Given the description of an element on the screen output the (x, y) to click on. 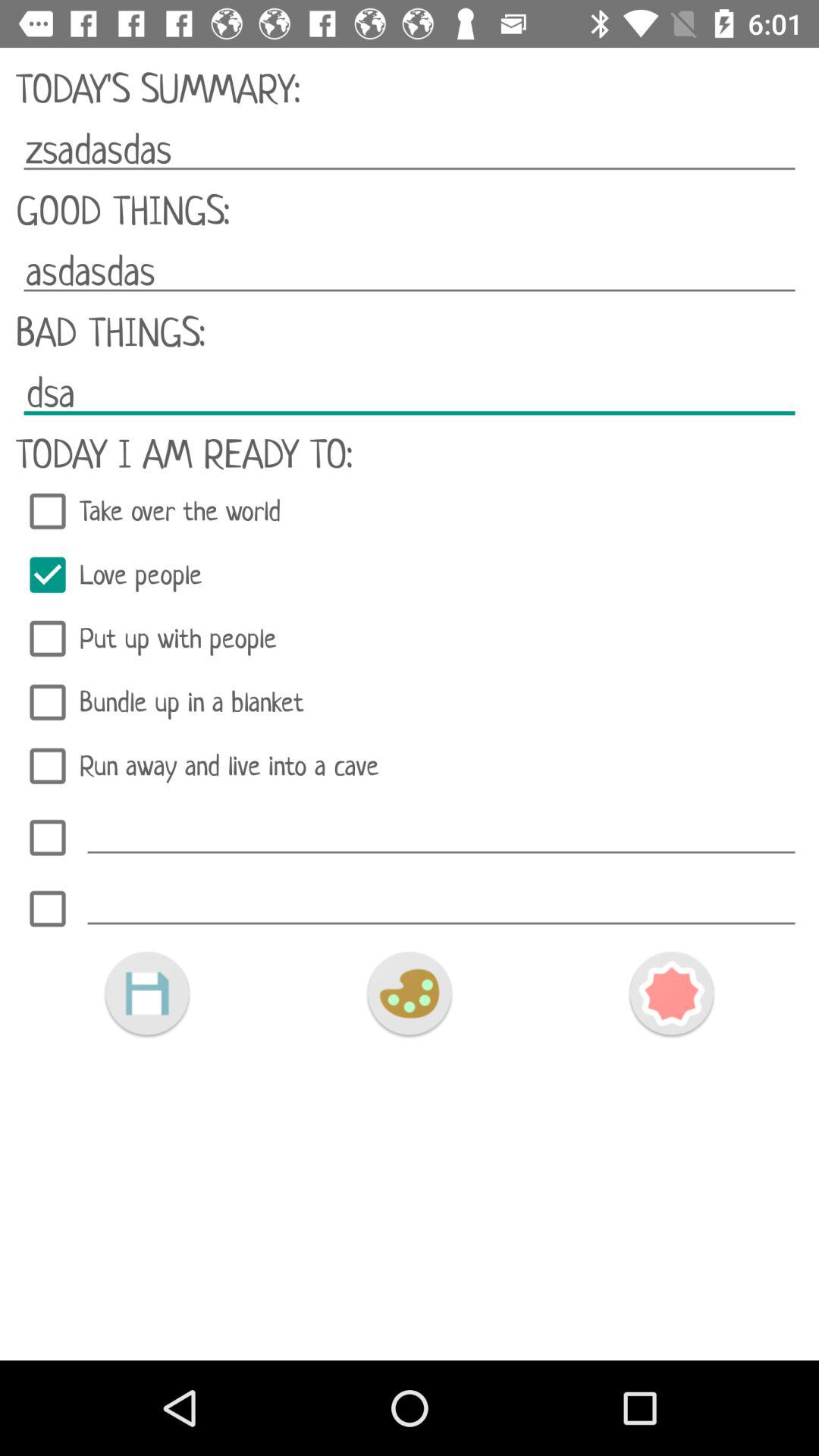
click item above bad things: icon (409, 271)
